Given the description of an element on the screen output the (x, y) to click on. 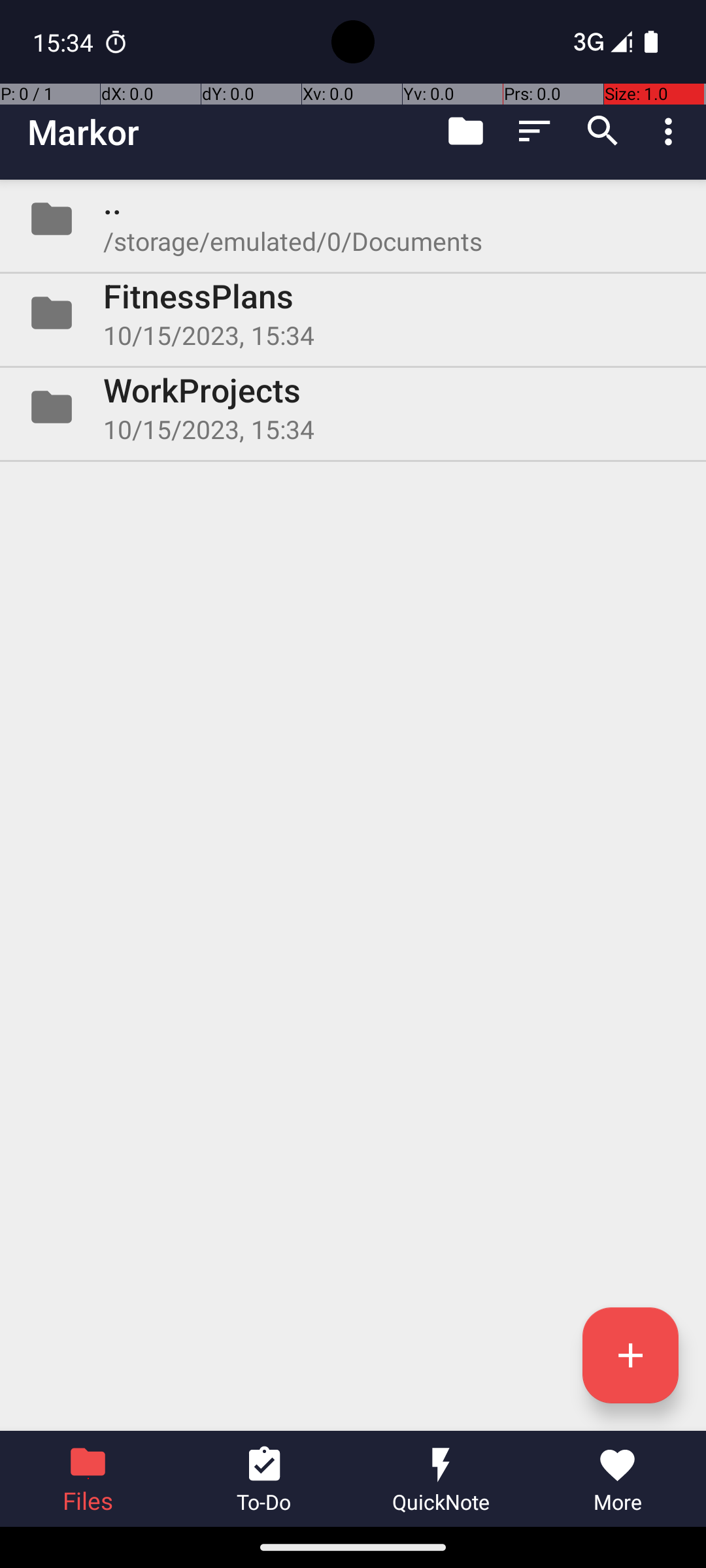
Folder FitnessPlans  Element type: android.widget.LinearLayout (353, 312)
Folder WorkProjects  Element type: android.widget.LinearLayout (353, 406)
